Given the description of an element on the screen output the (x, y) to click on. 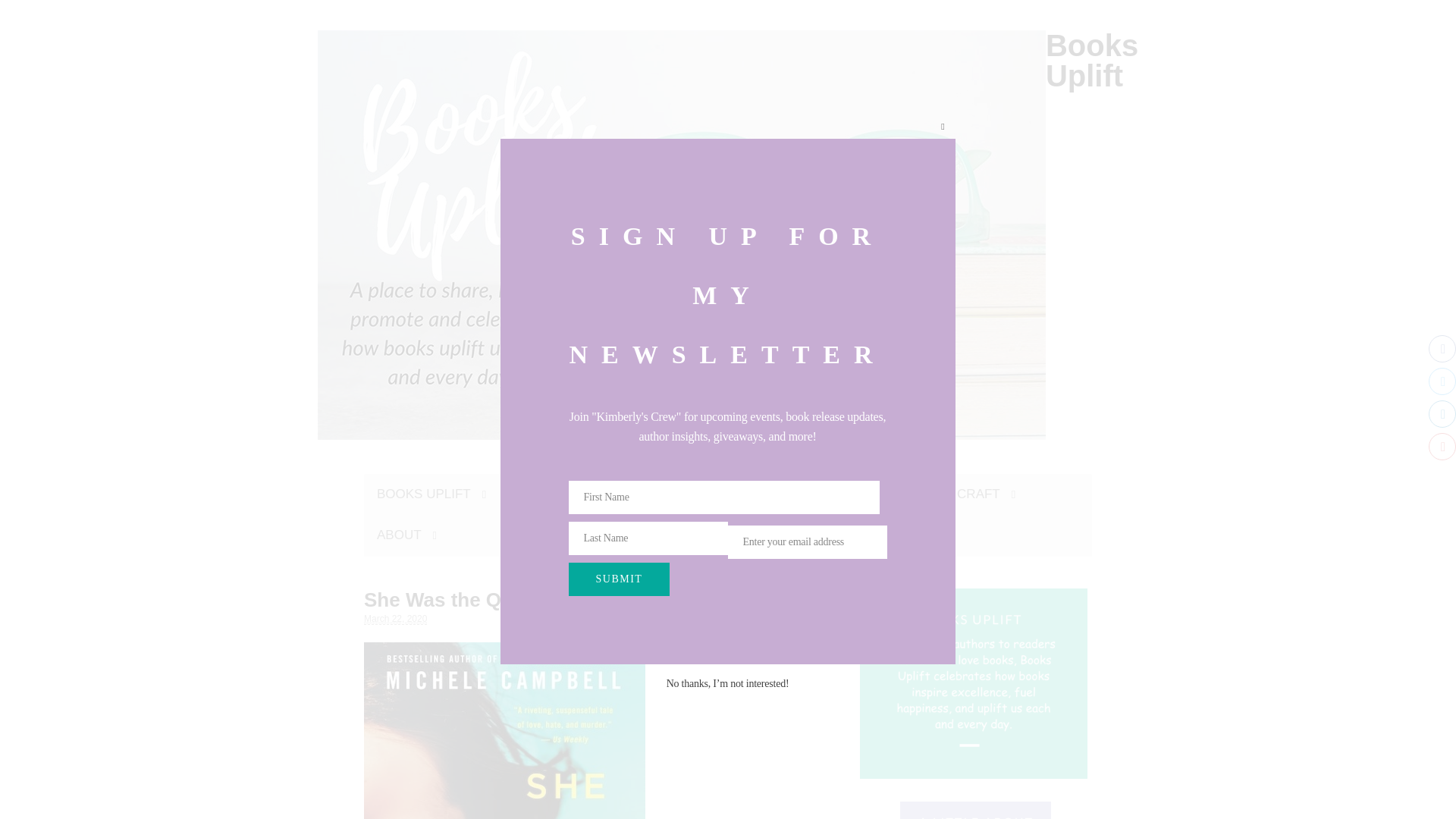
Books Uplift (1091, 60)
BOOKS 4 FUN (840, 494)
ABOUT (406, 535)
BOOK TALK (555, 494)
BOOK CRAFT (964, 494)
BOOKS UPLIFT (431, 494)
BOOKS 4 SUCCESS (693, 494)
